Given the description of an element on the screen output the (x, y) to click on. 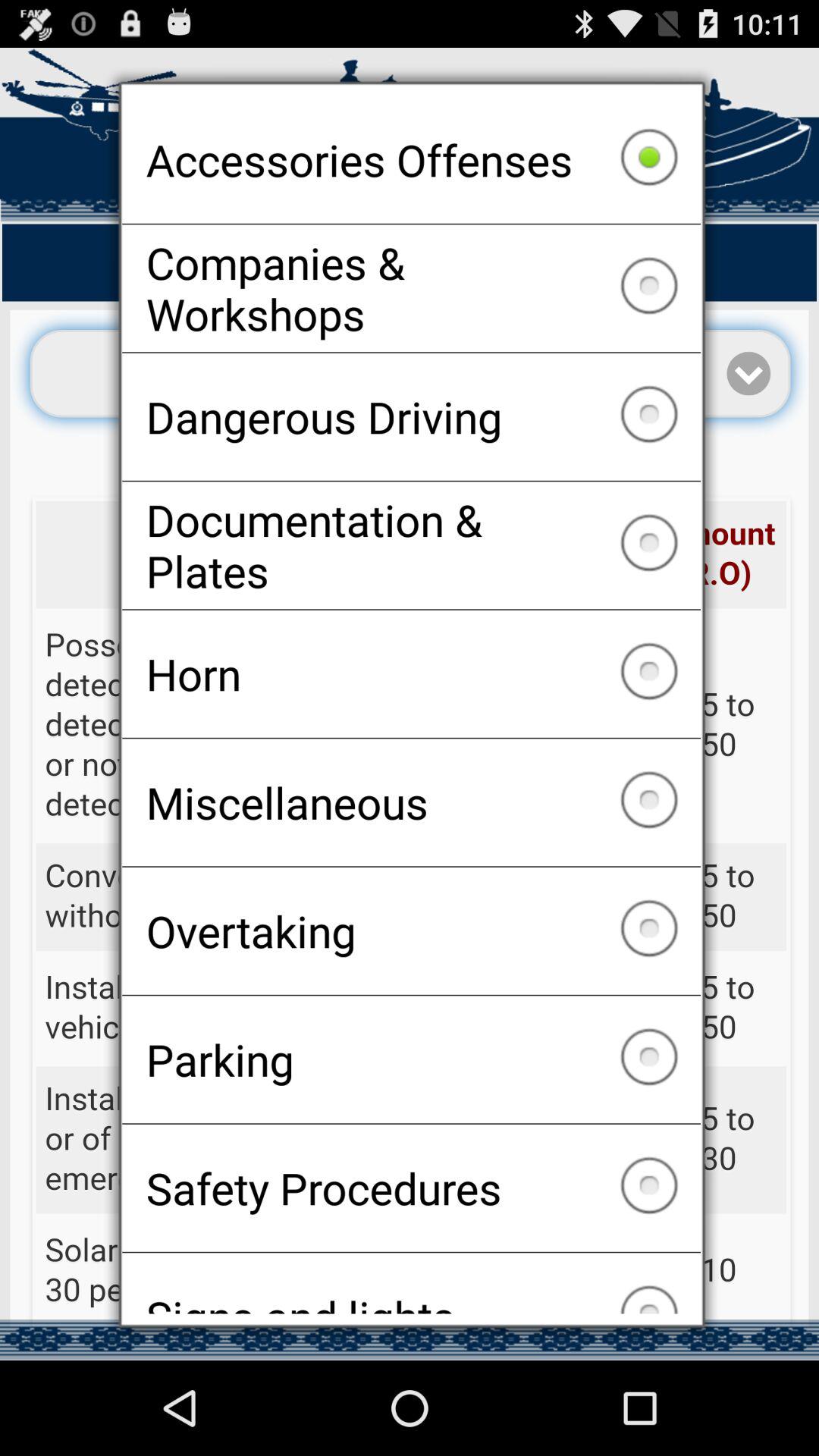
press item below documentation & plates (411, 673)
